Given the description of an element on the screen output the (x, y) to click on. 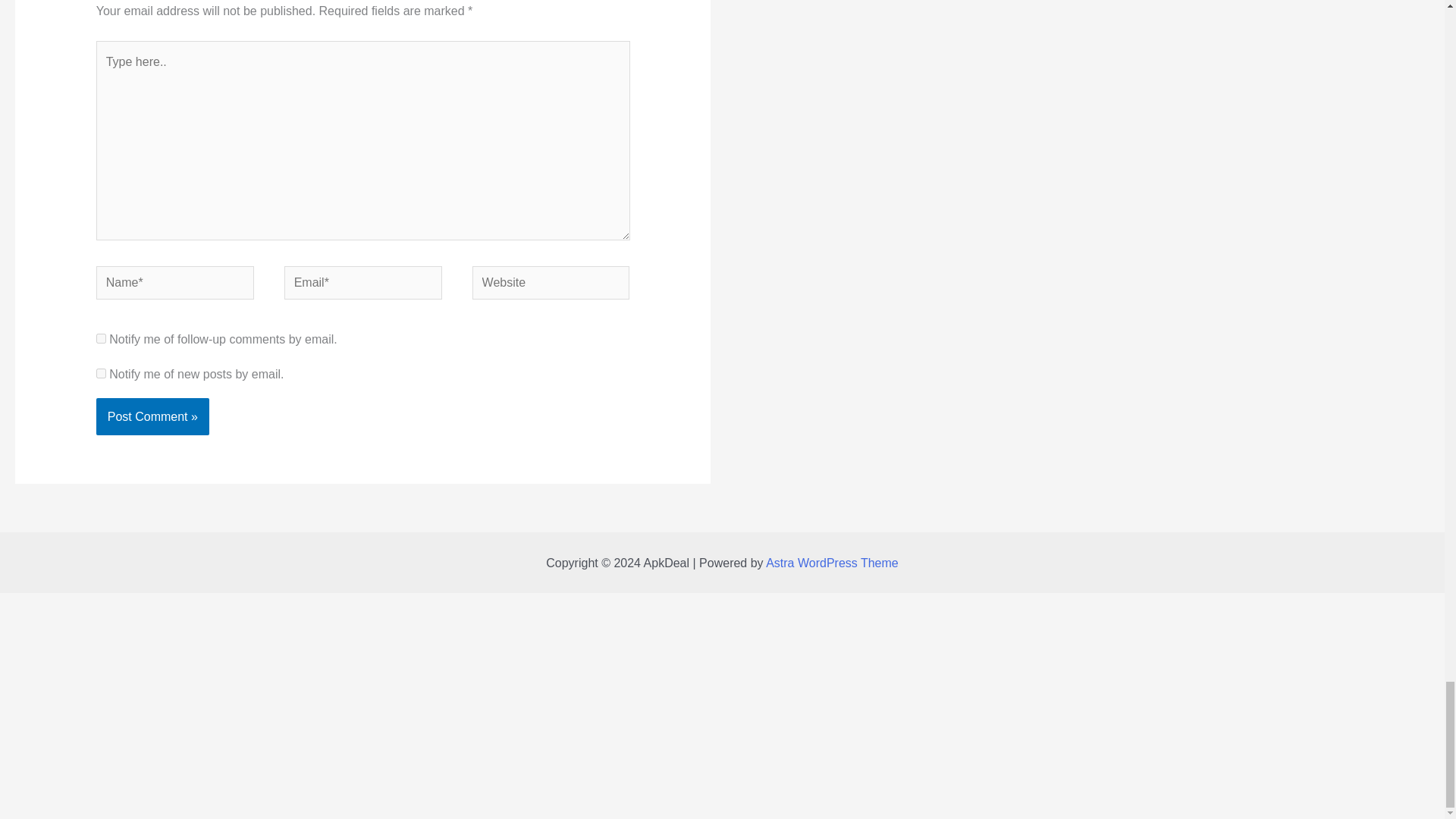
Astra WordPress Theme (831, 562)
subscribe (101, 373)
subscribe (101, 338)
